Given the description of an element on the screen output the (x, y) to click on. 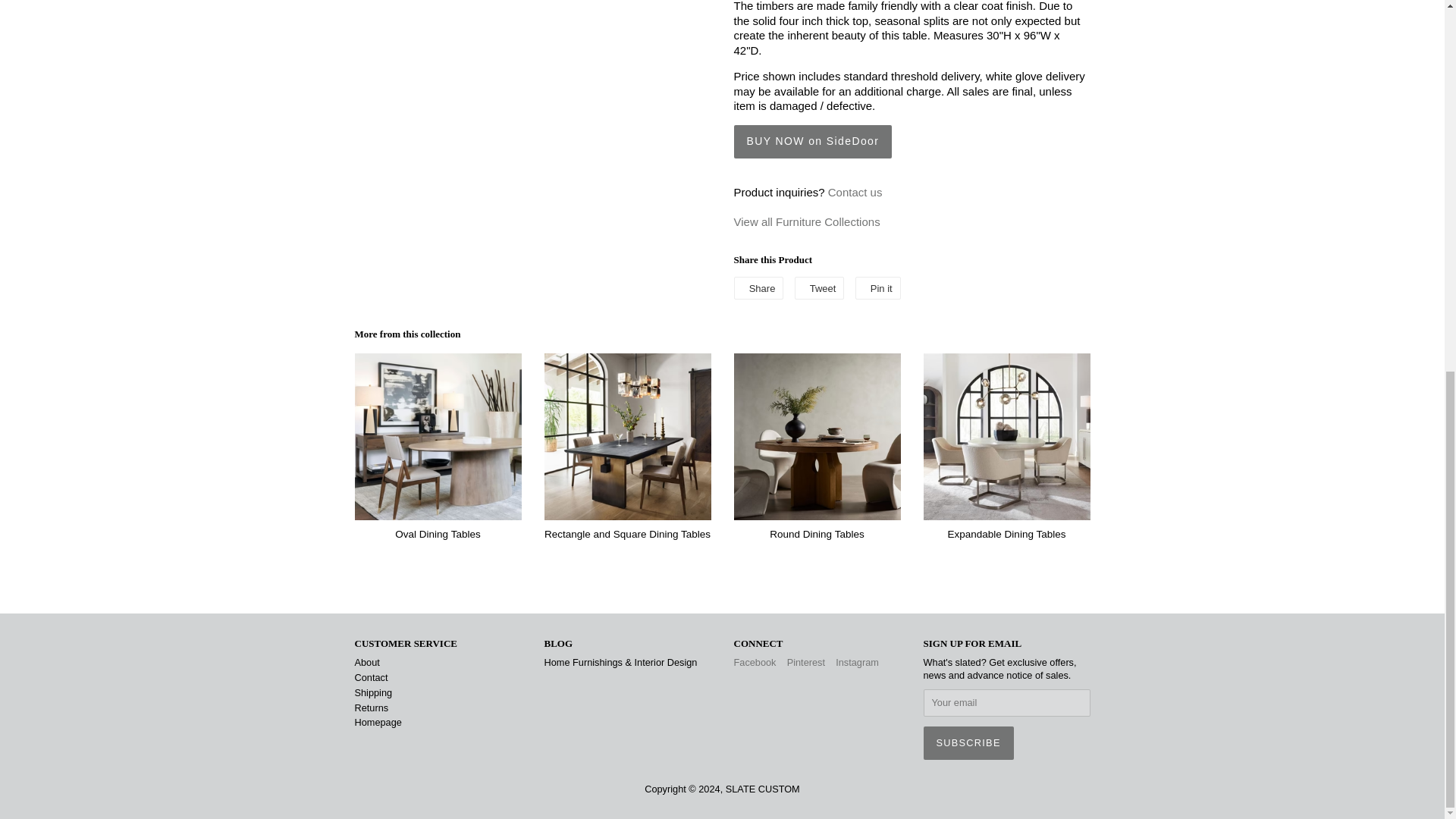
Pin on Pinterest (878, 287)
SLATE CUSTOM on Instagram (857, 662)
Tweet on Twitter (819, 287)
Share on Facebook (758, 287)
Subscribe (968, 743)
SLATE CUSTOM on Pinterest (806, 662)
SLATE CUSTOM on Facebook (754, 662)
